Given the description of an element on the screen output the (x, y) to click on. 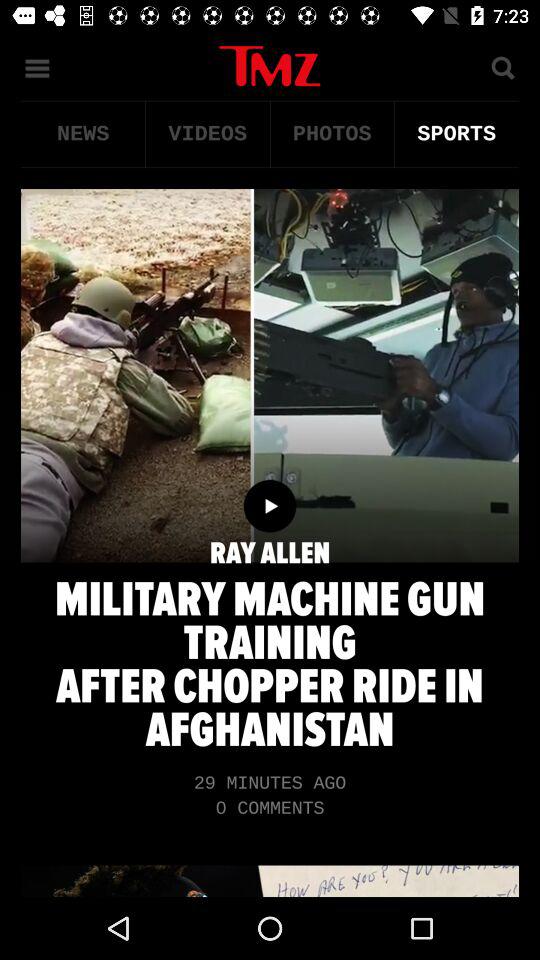
swipe to videos item (207, 133)
